Given the description of an element on the screen output the (x, y) to click on. 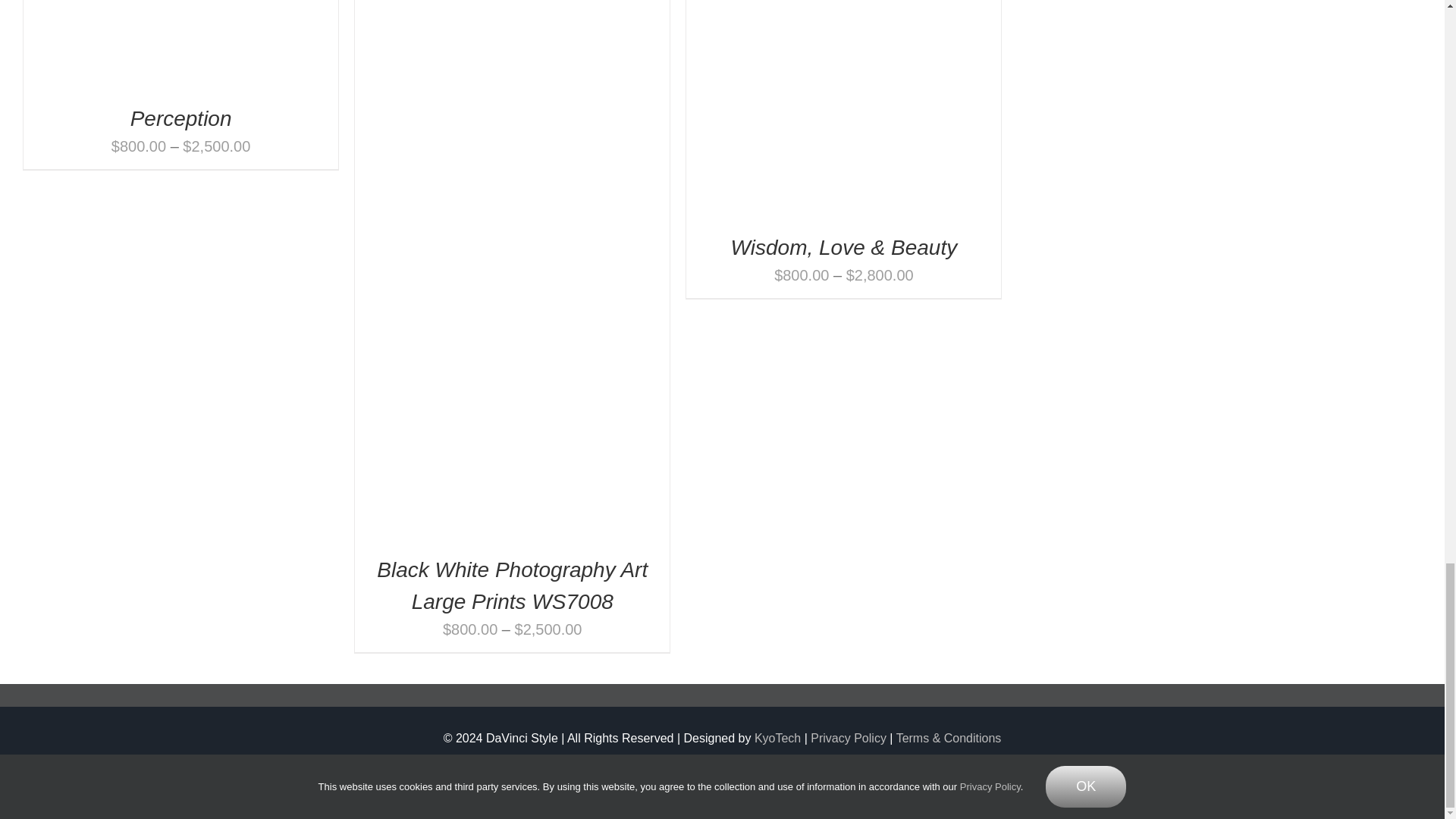
YouTube (739, 775)
Facebook (672, 775)
Instagram (706, 775)
